Given the description of an element on the screen output the (x, y) to click on. 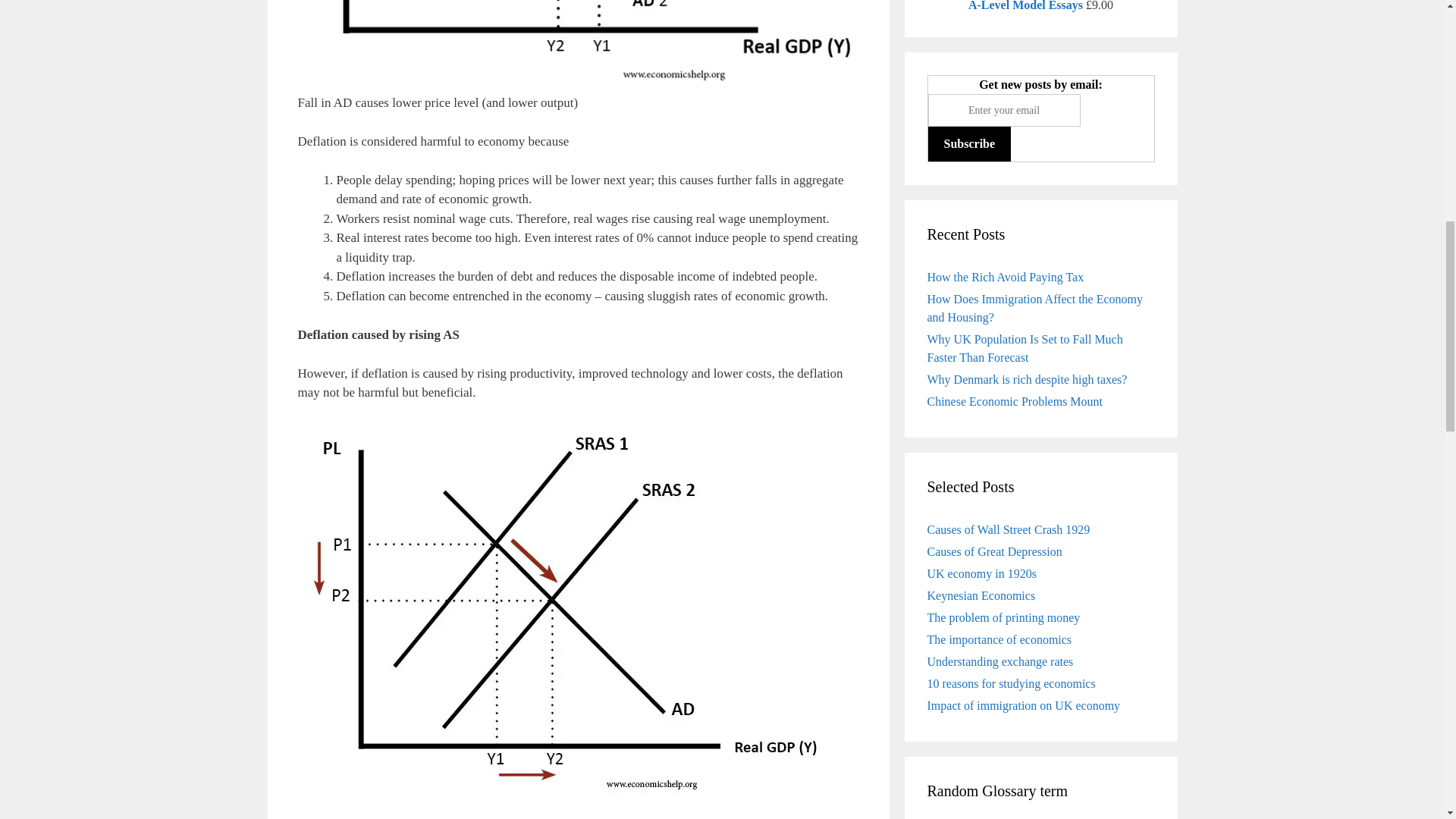
How the Rich Avoid Paying Tax (1004, 276)
Subscribe (969, 143)
A-Level Model Essays (1025, 5)
Scroll back to top (1406, 530)
